Given the description of an element on the screen output the (x, y) to click on. 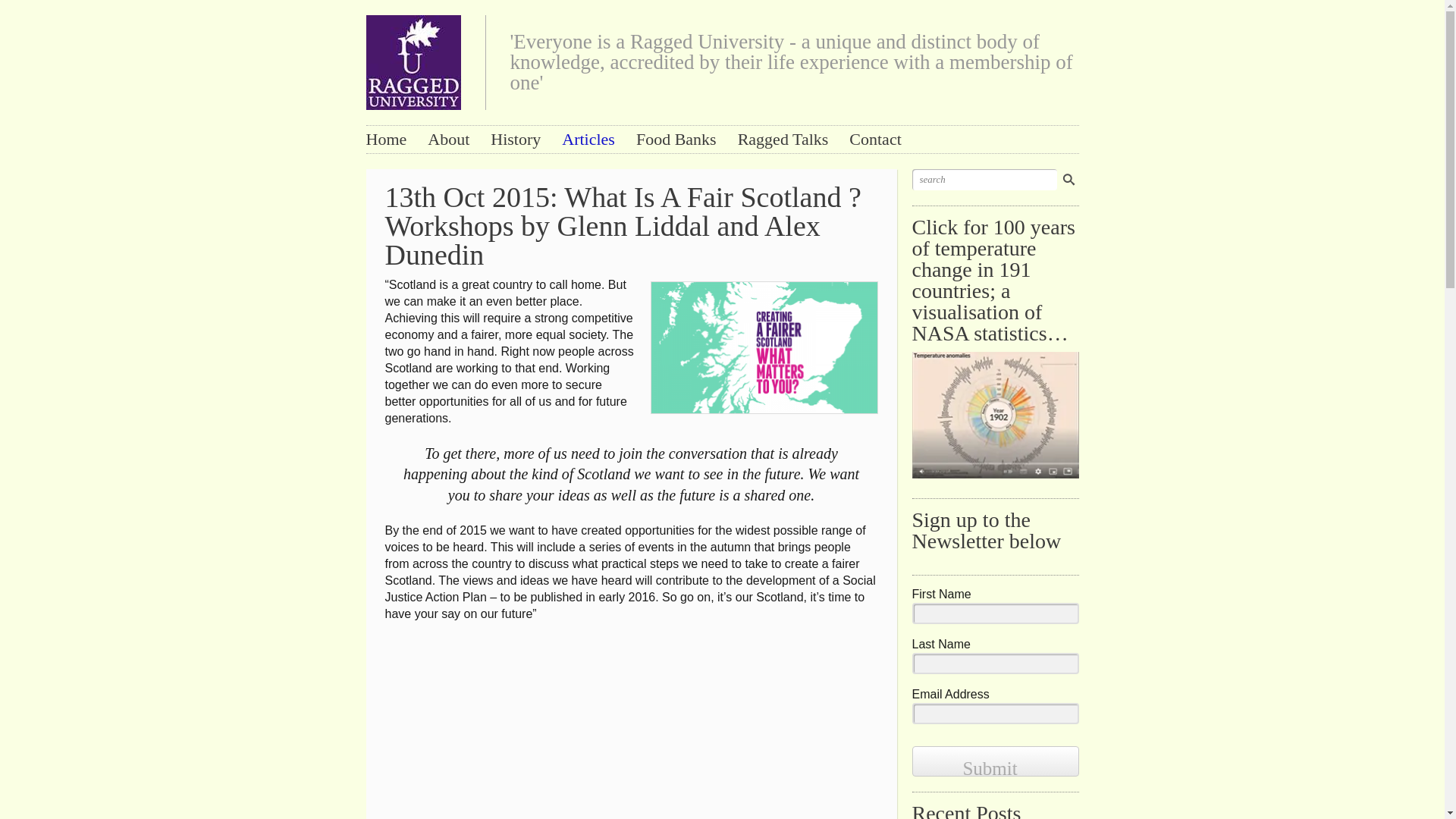
Ragged Talks (783, 139)
Food Banks (676, 139)
Home (385, 139)
About (448, 139)
Articles (588, 139)
History (515, 139)
Ragged University (412, 57)
